Given the description of an element on the screen output the (x, y) to click on. 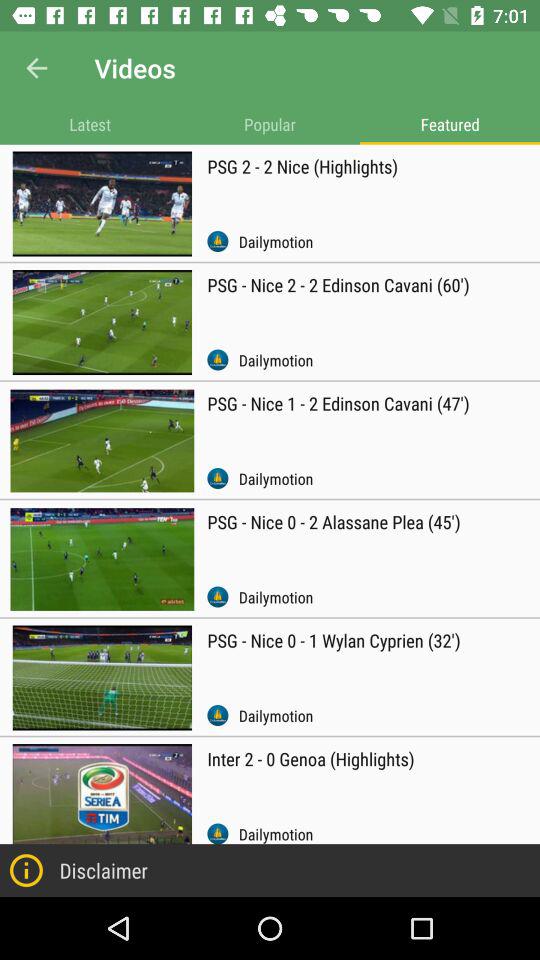
jump to featured item (450, 124)
